Given the description of an element on the screen output the (x, y) to click on. 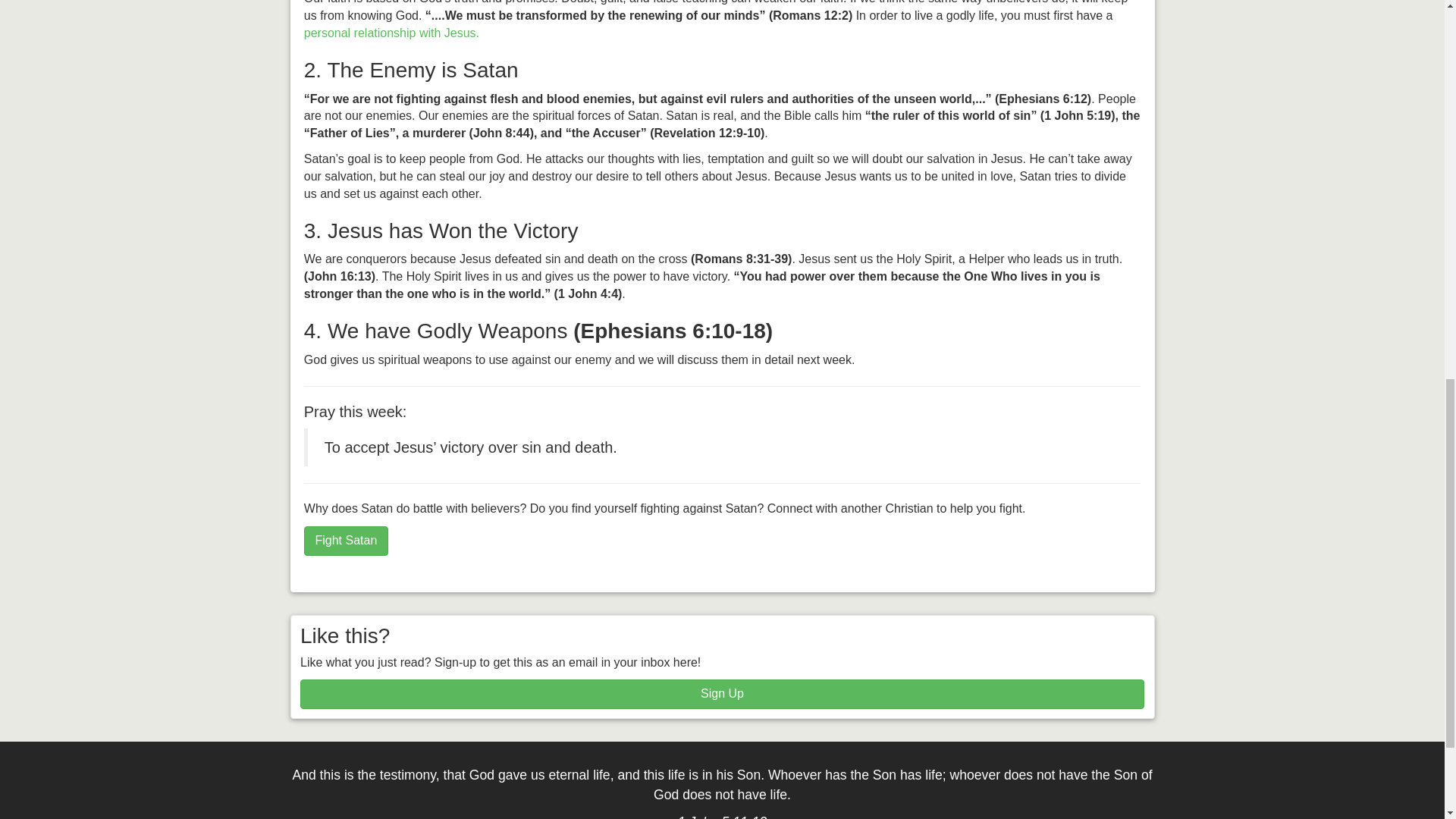
Fight Satan (346, 541)
personal relationship with Jesus. (391, 32)
Sign Up (721, 694)
